Given the description of an element on the screen output the (x, y) to click on. 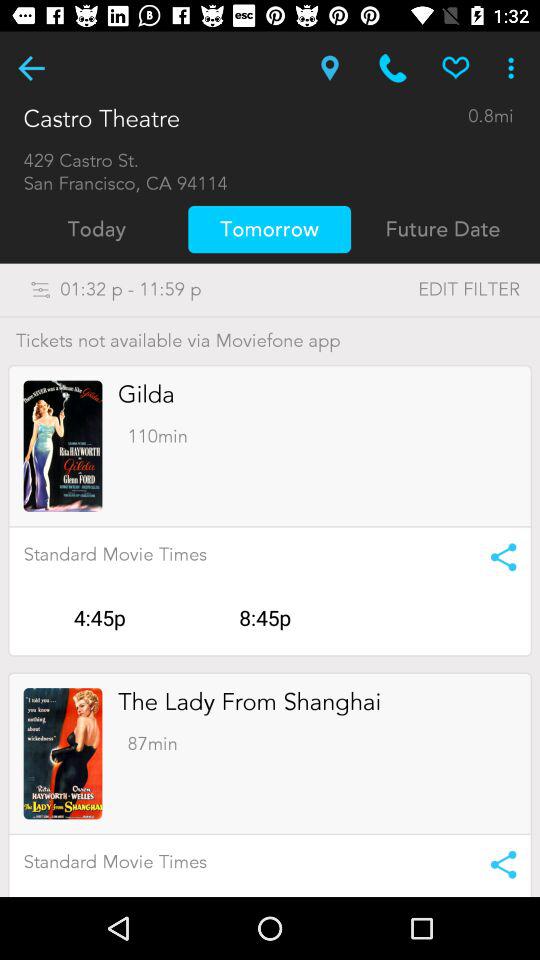
to share (496, 557)
